Given the description of an element on the screen output the (x, y) to click on. 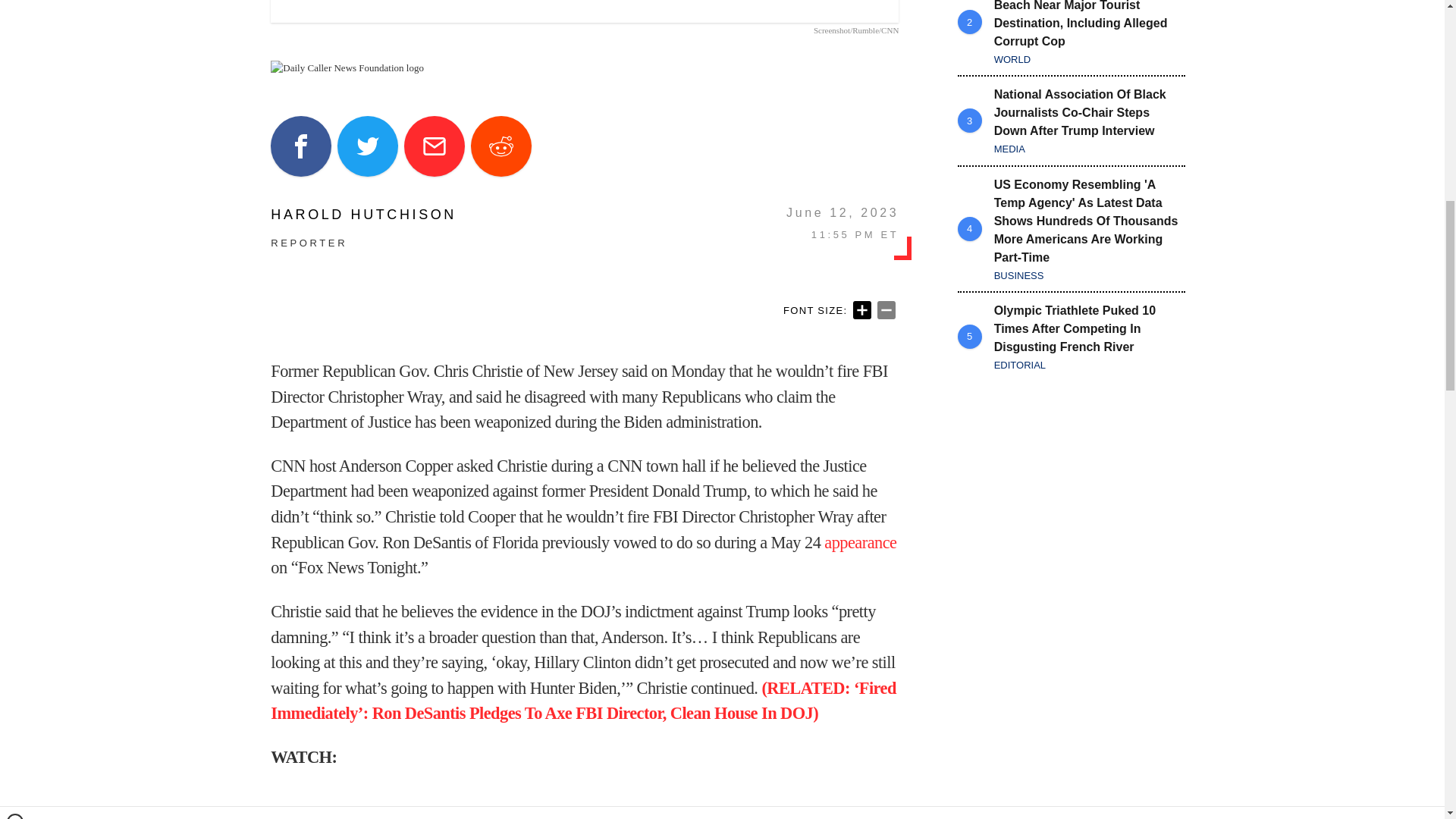
Close window (14, 6)
HAROLD HUTCHISON (363, 214)
View More Articles By Harold Hutchison (363, 214)
DCNF - Cooper Christie DOJ CNN - Featured (584, 11)
appearance (860, 542)
